Given the description of an element on the screen output the (x, y) to click on. 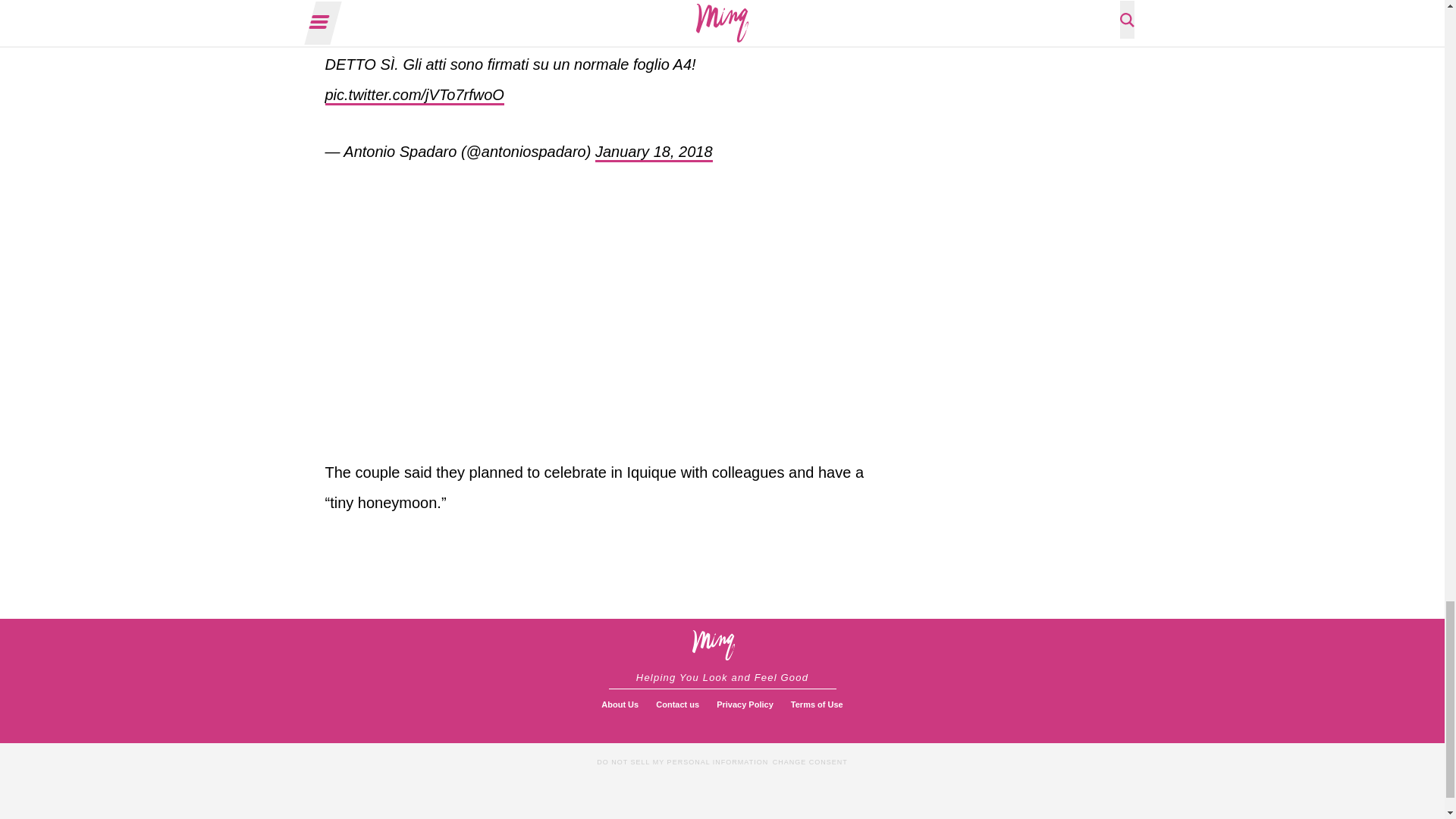
Privacy Policy (744, 704)
January 18, 2018 (654, 152)
Contact us (676, 704)
About Us (620, 704)
